Given the description of an element on the screen output the (x, y) to click on. 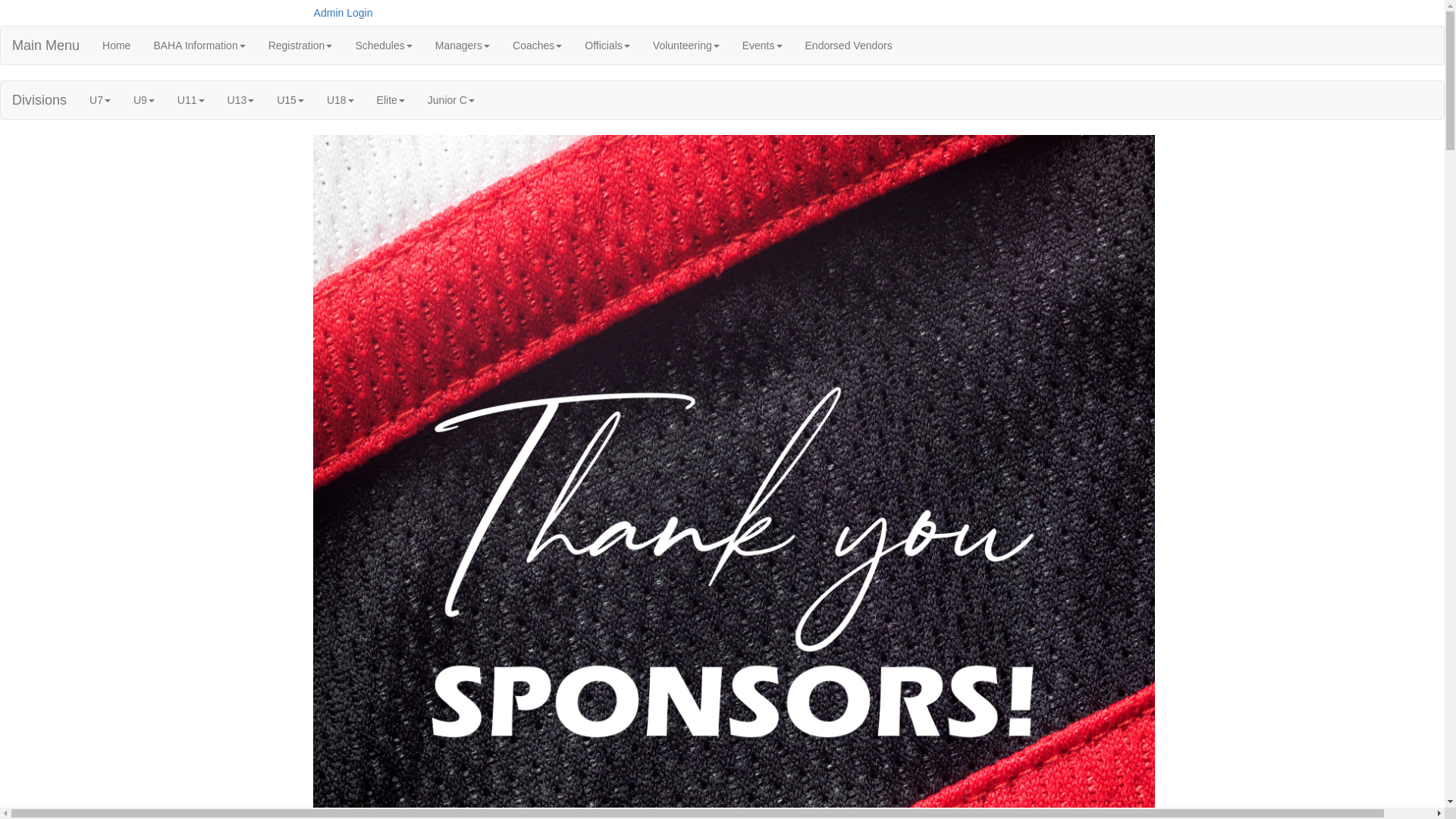
U15 Element type: text (290, 100)
Events Element type: text (762, 45)
Registration Element type: text (300, 45)
Officials Element type: text (607, 45)
Coaches Element type: text (537, 45)
U18 Element type: text (340, 100)
Schedules Element type: text (383, 45)
Instagram Element type: text (1133, 8)
U13 Element type: text (241, 100)
Managers Element type: text (462, 45)
U11 Element type: text (191, 100)
Twitter Element type: text (1110, 8)
U9 Element type: text (144, 100)
U7 Element type: text (100, 100)
Divisions Element type: text (39, 100)
Home Element type: text (116, 45)
Volunteering Element type: text (686, 45)
Endorsed Vendors Element type: text (848, 45)
Facebook Element type: text (1088, 8)
Junior C Element type: text (451, 100)
Main Menu Element type: text (45, 45)
BAHA Information Element type: text (198, 45)
Elite Element type: text (390, 100)
 Admin Login
Admin Login Element type: text (341, 12)
